Given the description of an element on the screen output the (x, y) to click on. 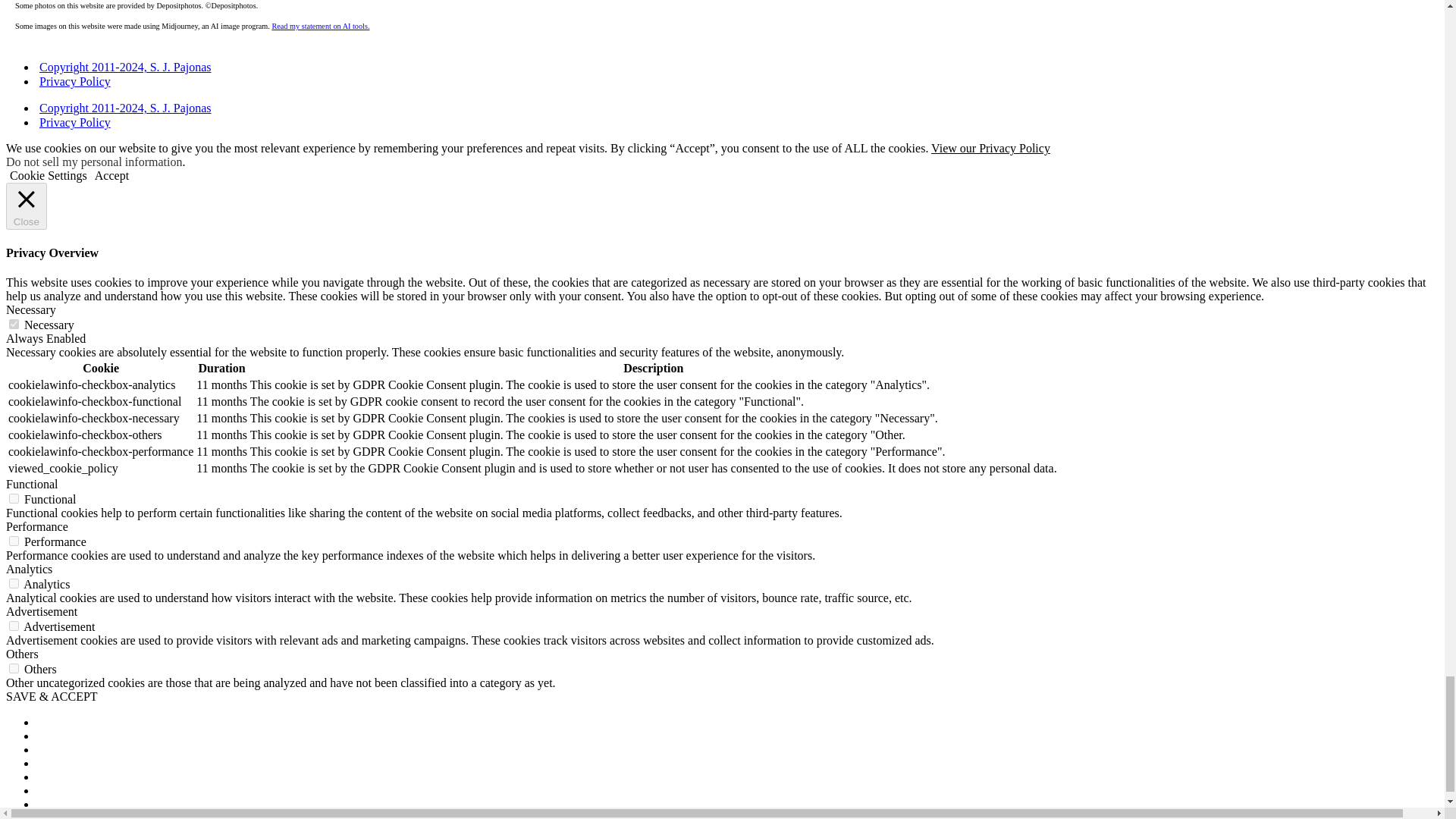
on (13, 583)
on (13, 668)
on (13, 324)
on (13, 498)
on (13, 541)
on (13, 625)
